Given the description of an element on the screen output the (x, y) to click on. 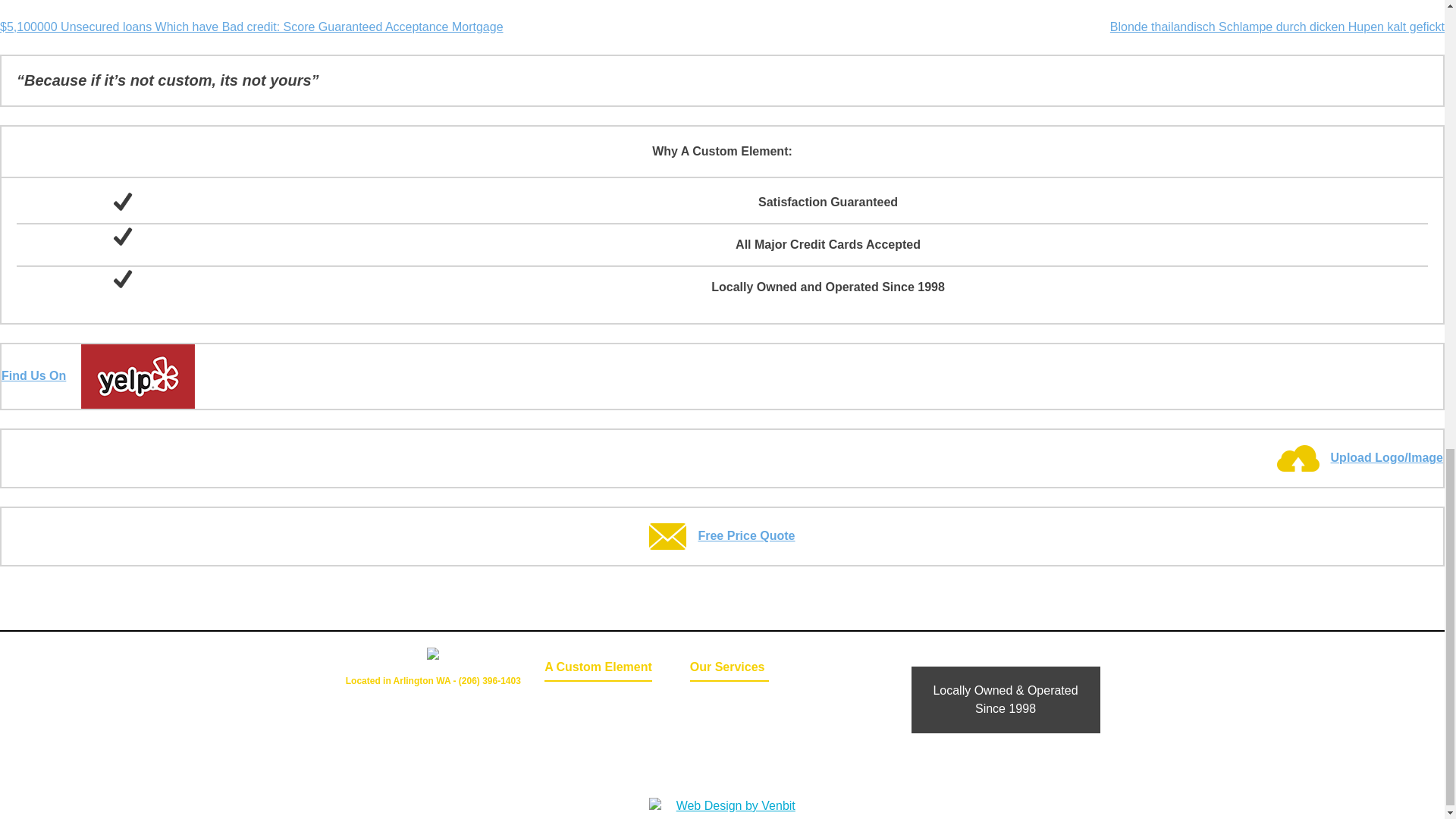
Find Us On (98, 375)
About Us (577, 742)
Textile Truffle (729, 762)
Contact Us (577, 721)
FAQ (729, 742)
Home (577, 699)
Services (729, 721)
Web Design by Venbit (729, 805)
Free Price Quote (721, 535)
Gallery (729, 699)
